Given the description of an element on the screen output the (x, y) to click on. 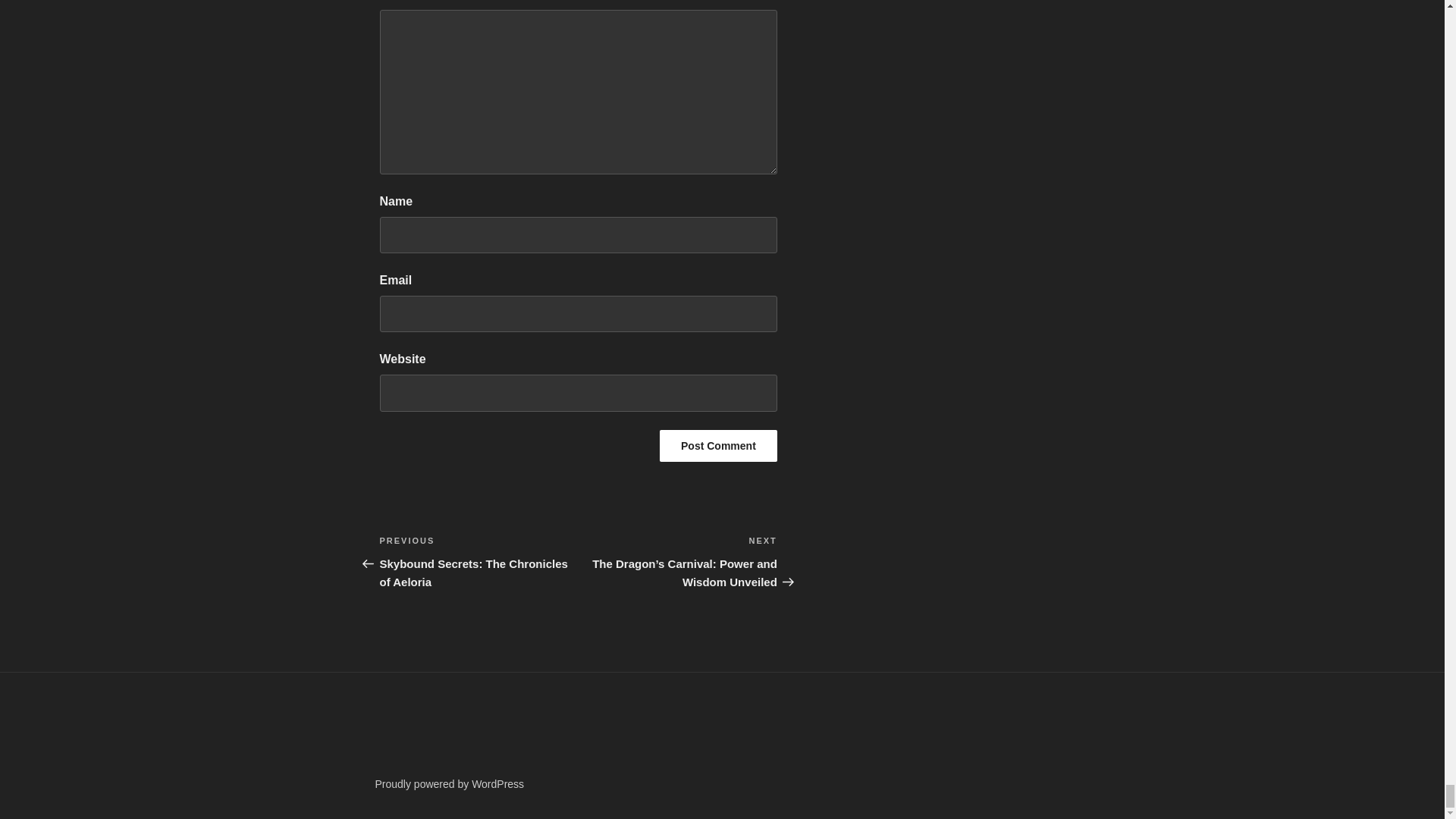
Post Comment (718, 445)
